Given the description of an element on the screen output the (x, y) to click on. 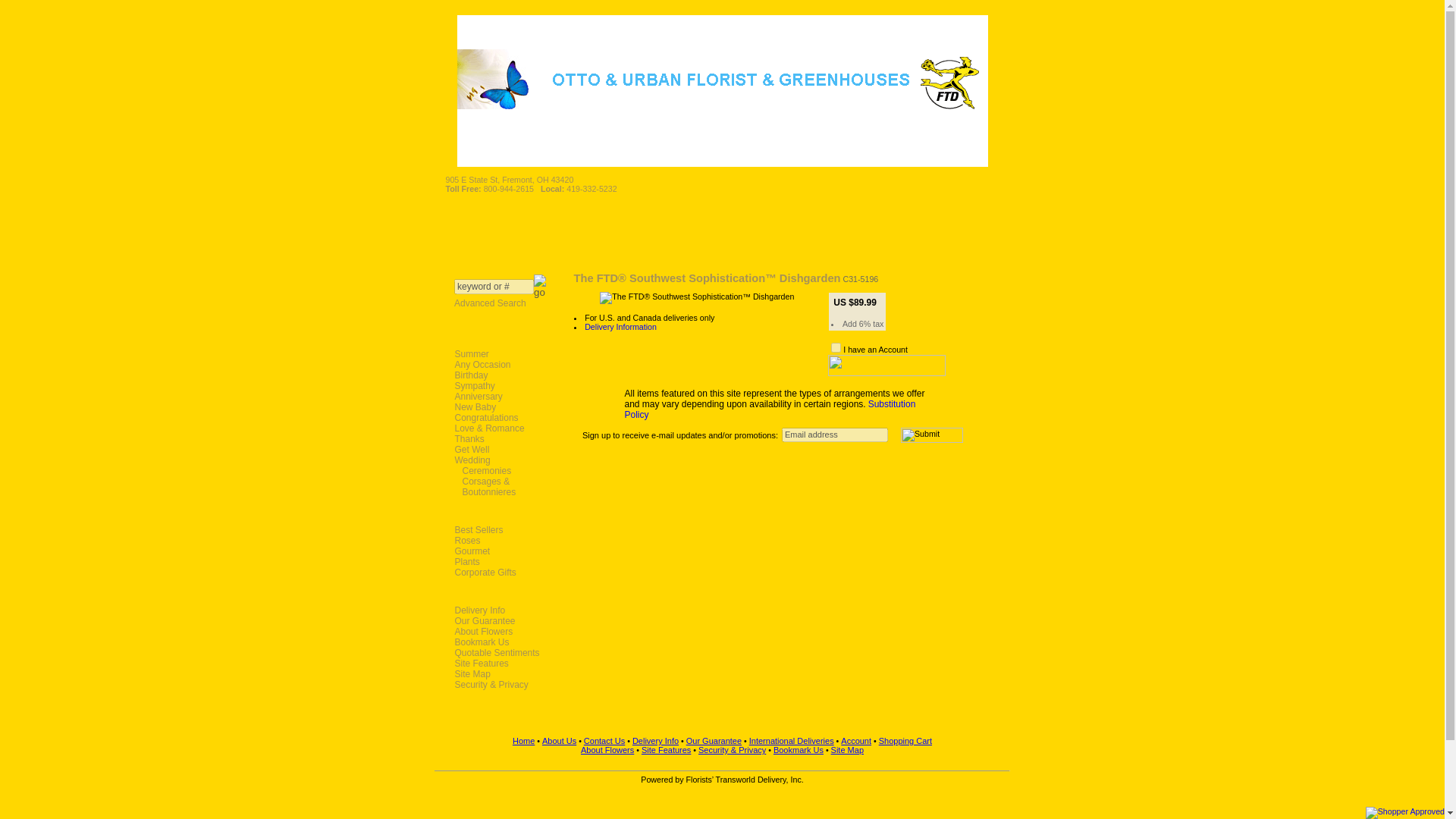
Quotable Sentiments (500, 652)
Site Features (500, 663)
Delivery Info (500, 610)
Any Occasion (500, 364)
Delivery Information (620, 326)
Roses (500, 540)
About Flowers (500, 631)
Site Map (500, 674)
Our Guarantee (500, 620)
Corporate Gifts (500, 572)
